Given the description of an element on the screen output the (x, y) to click on. 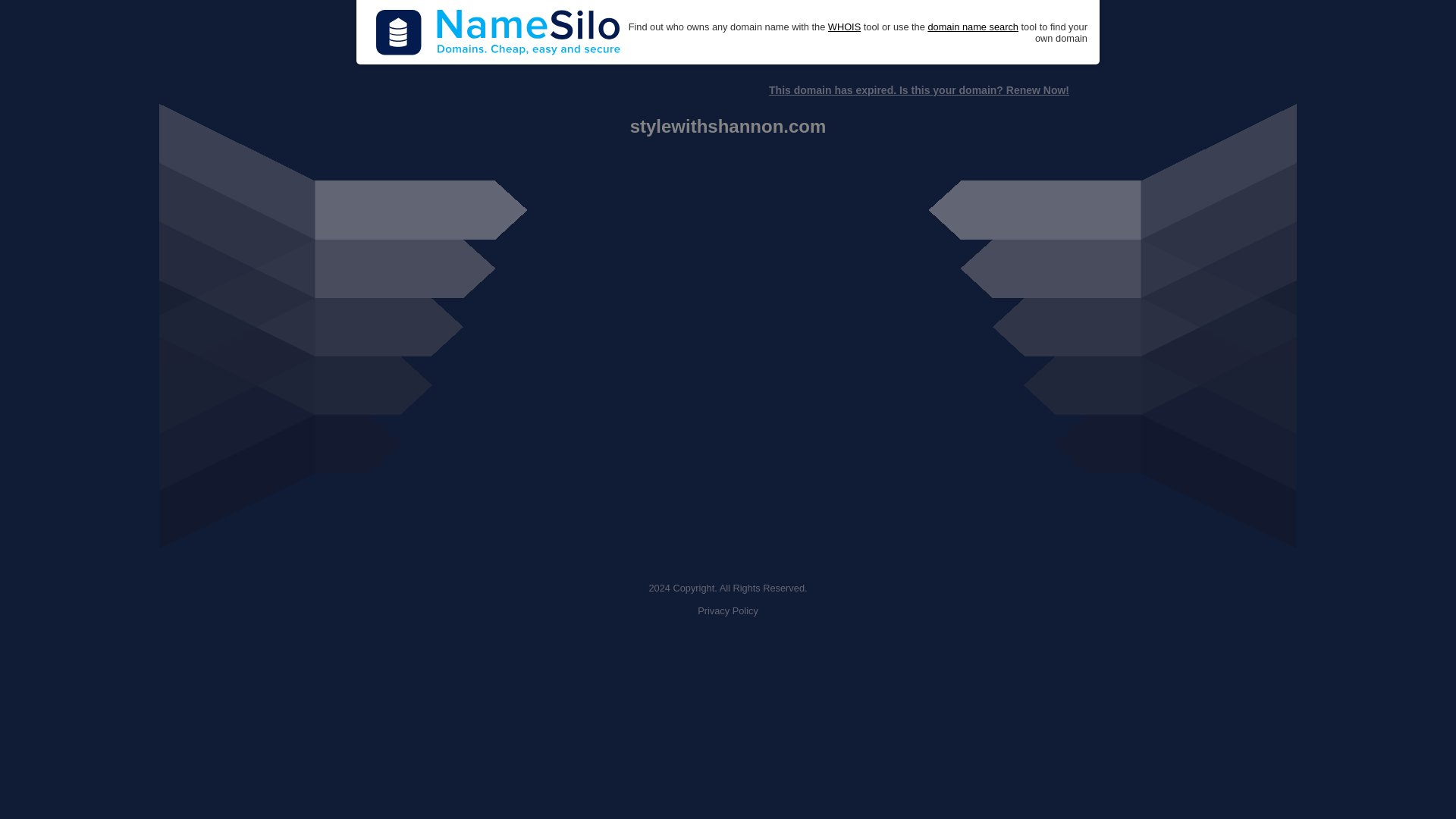
This domain has expired. Is this your domain? Renew Now! (918, 90)
Privacy Policy (727, 610)
domain name search (972, 26)
WHOIS (844, 26)
